Given the description of an element on the screen output the (x, y) to click on. 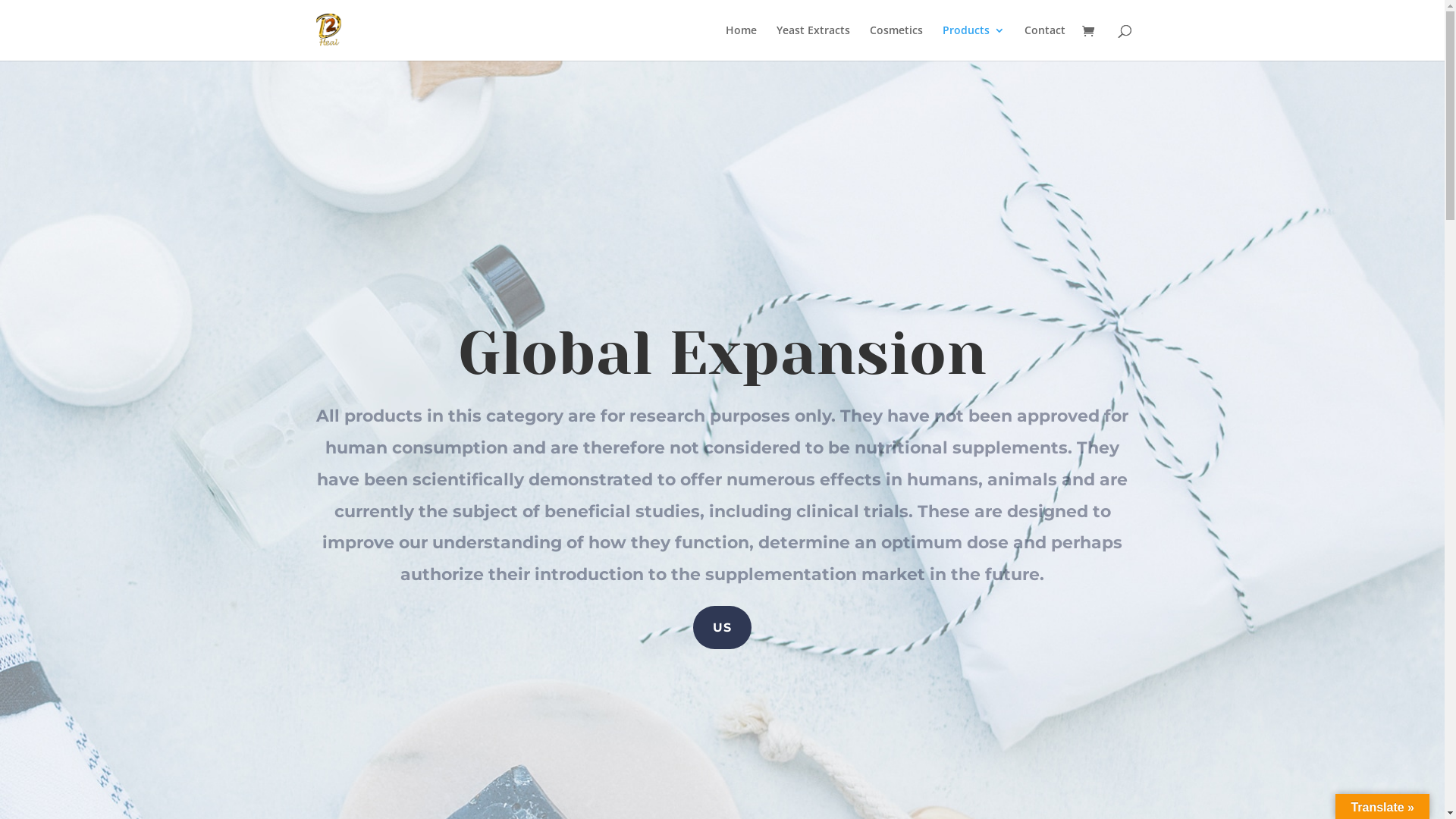
Home Element type: text (740, 42)
Cosmetics Element type: text (895, 42)
Products Element type: text (972, 42)
Contact Element type: text (1043, 42)
US Element type: text (722, 627)
Yeast Extracts Element type: text (813, 42)
